Given the description of an element on the screen output the (x, y) to click on. 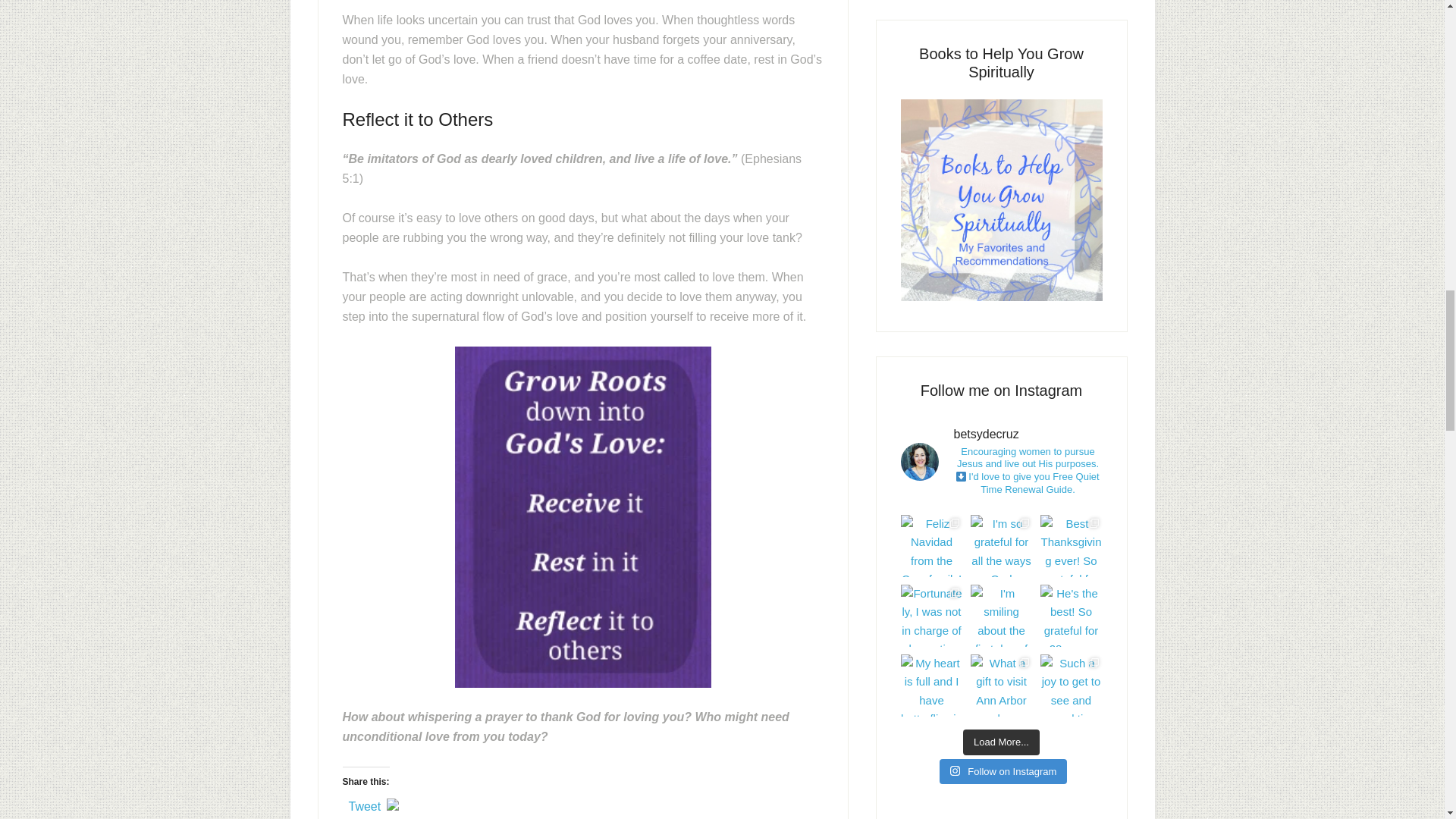
Books to Help You Grow Spiritually (1001, 296)
Tweet (365, 803)
